Given the description of an element on the screen output the (x, y) to click on. 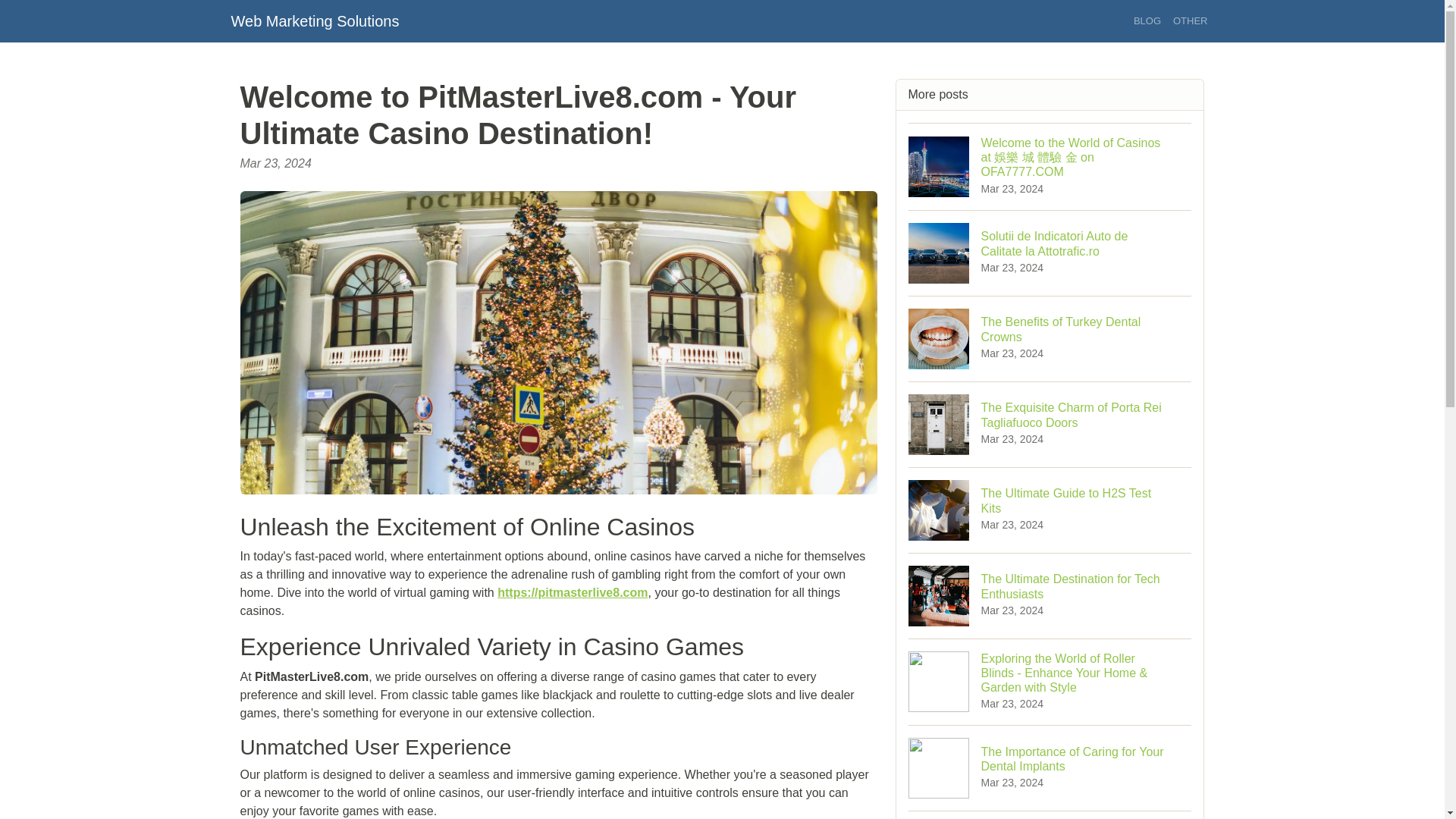
Web Marketing Solutions (1050, 509)
OTHER (1050, 338)
BLOG (314, 20)
